Given the description of an element on the screen output the (x, y) to click on. 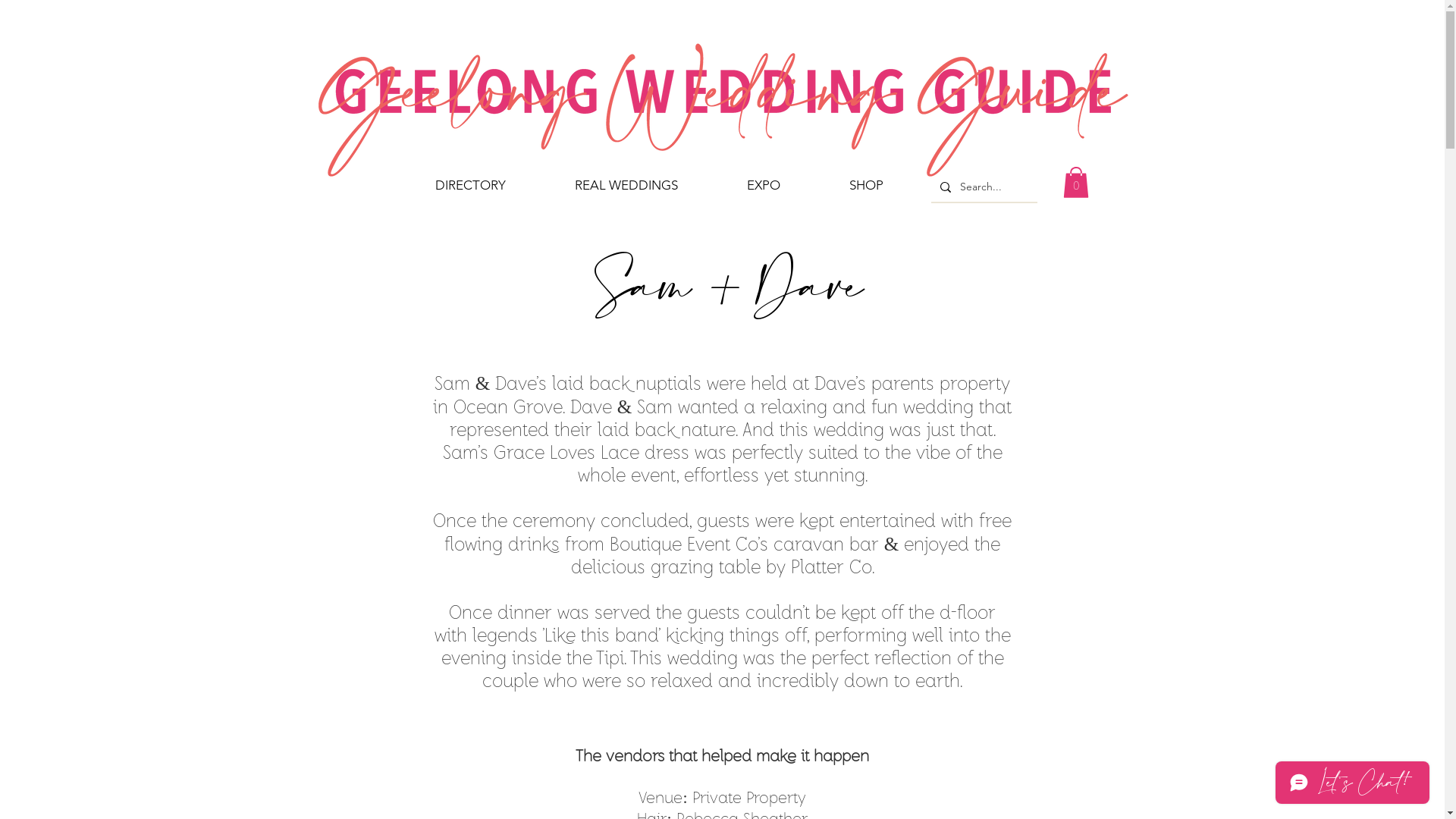
0 Element type: text (1075, 181)
EXPO Element type: text (763, 185)
DIRECTORY Element type: text (470, 185)
SHOP Element type: text (865, 185)
REAL WEDDINGS Element type: text (625, 185)
